Given the description of an element on the screen output the (x, y) to click on. 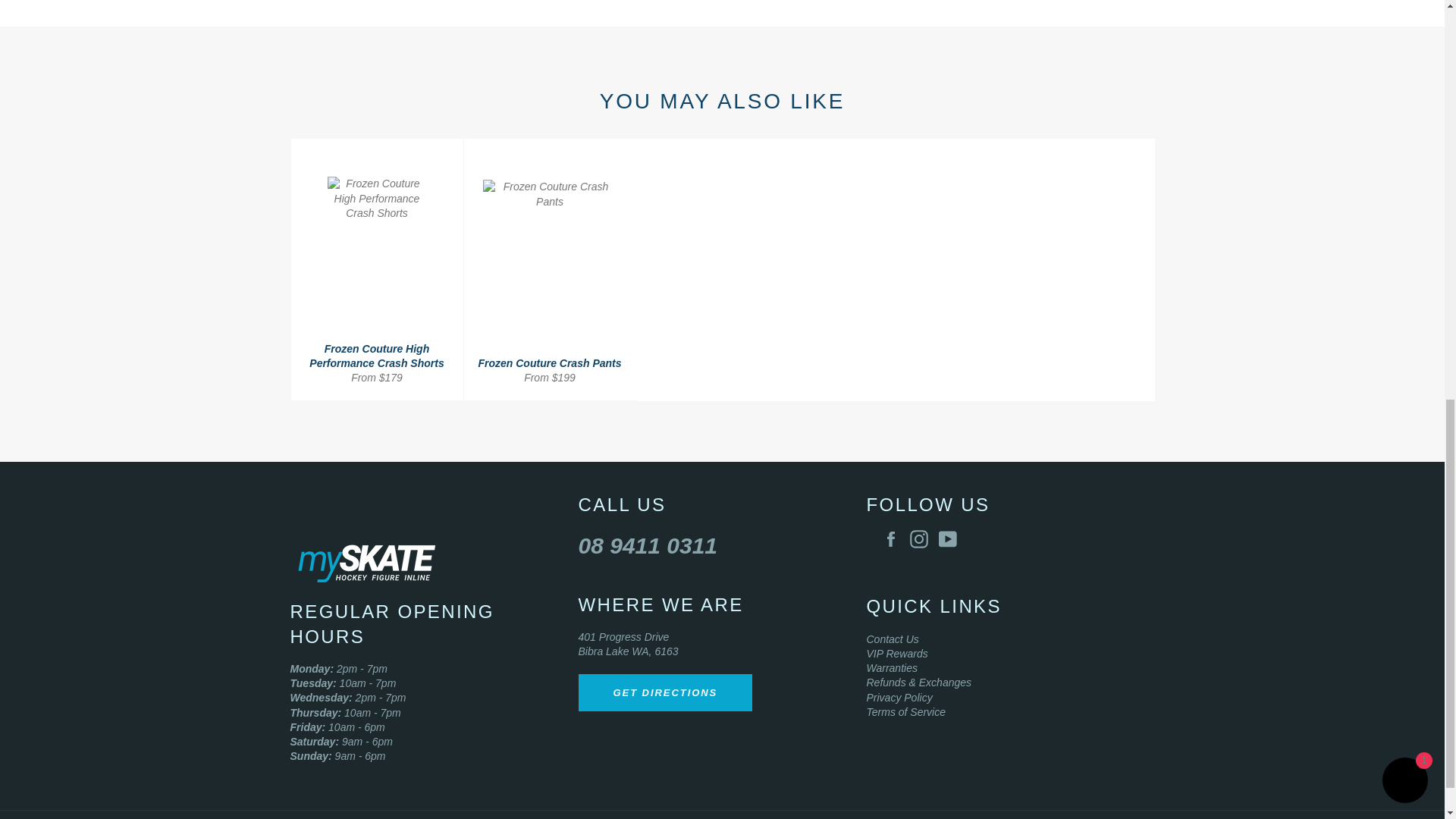
mySKATE Proshop on Facebook (893, 538)
mySKATE Proshop on Instagram (923, 538)
mySKATE Proshop on YouTube (951, 538)
